Given the description of an element on the screen output the (x, y) to click on. 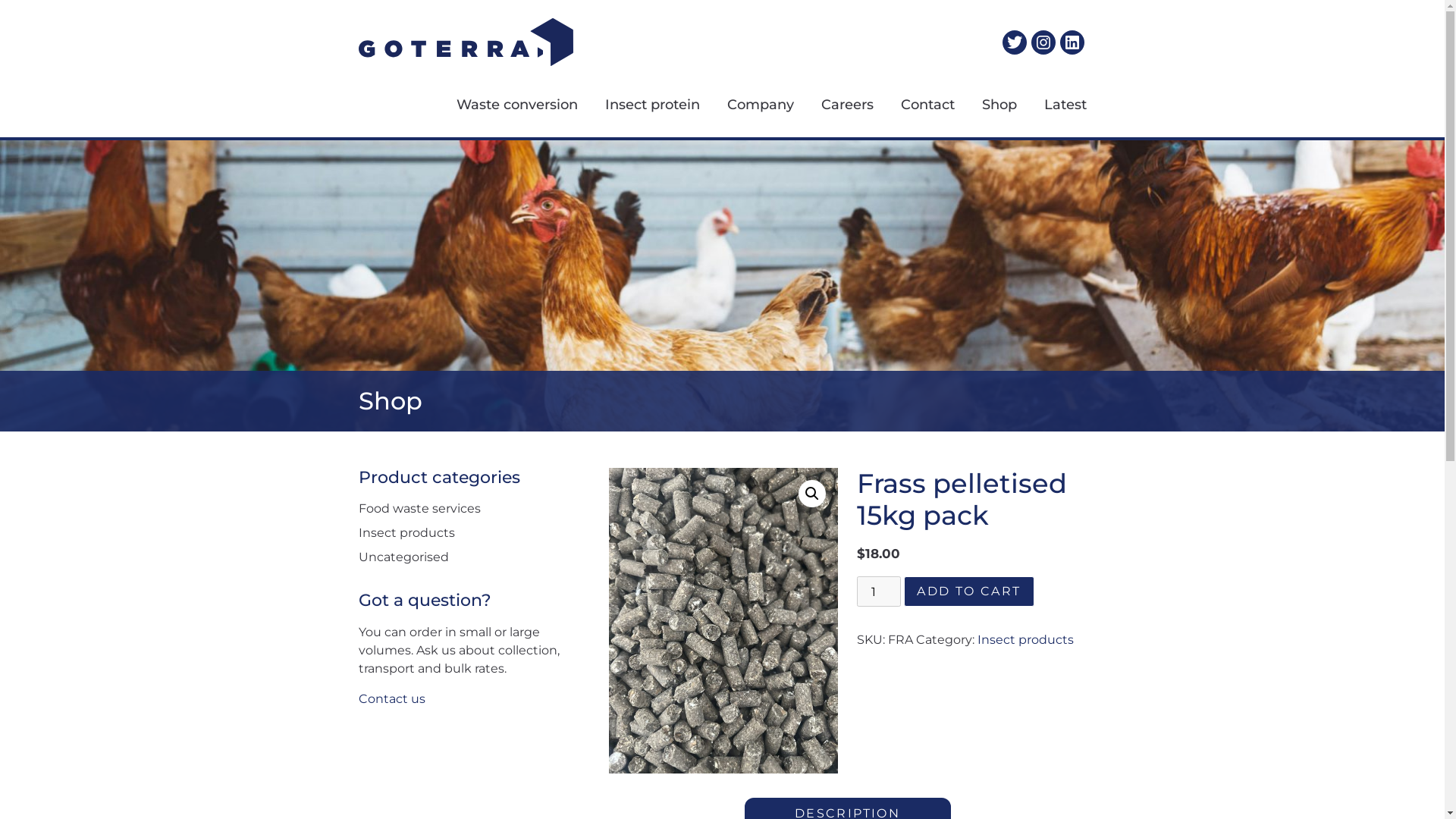
Uncategorised Element type: text (402, 556)
ADD TO CART Element type: text (968, 591)
Pelletized_Frass Element type: hover (722, 620)
Food waste services Element type: text (418, 508)
Latest Element type: text (1050, 104)
Careers Element type: text (832, 104)
Insect products Element type: text (405, 532)
Insect products Element type: text (1025, 639)
Insect protein Element type: text (638, 104)
Shop Element type: text (984, 104)
Contact us Element type: text (390, 698)
Qty Element type: hover (878, 591)
Waste conversion Element type: text (503, 104)
Company Element type: text (746, 104)
Contact Element type: text (913, 104)
